Given the description of an element on the screen output the (x, y) to click on. 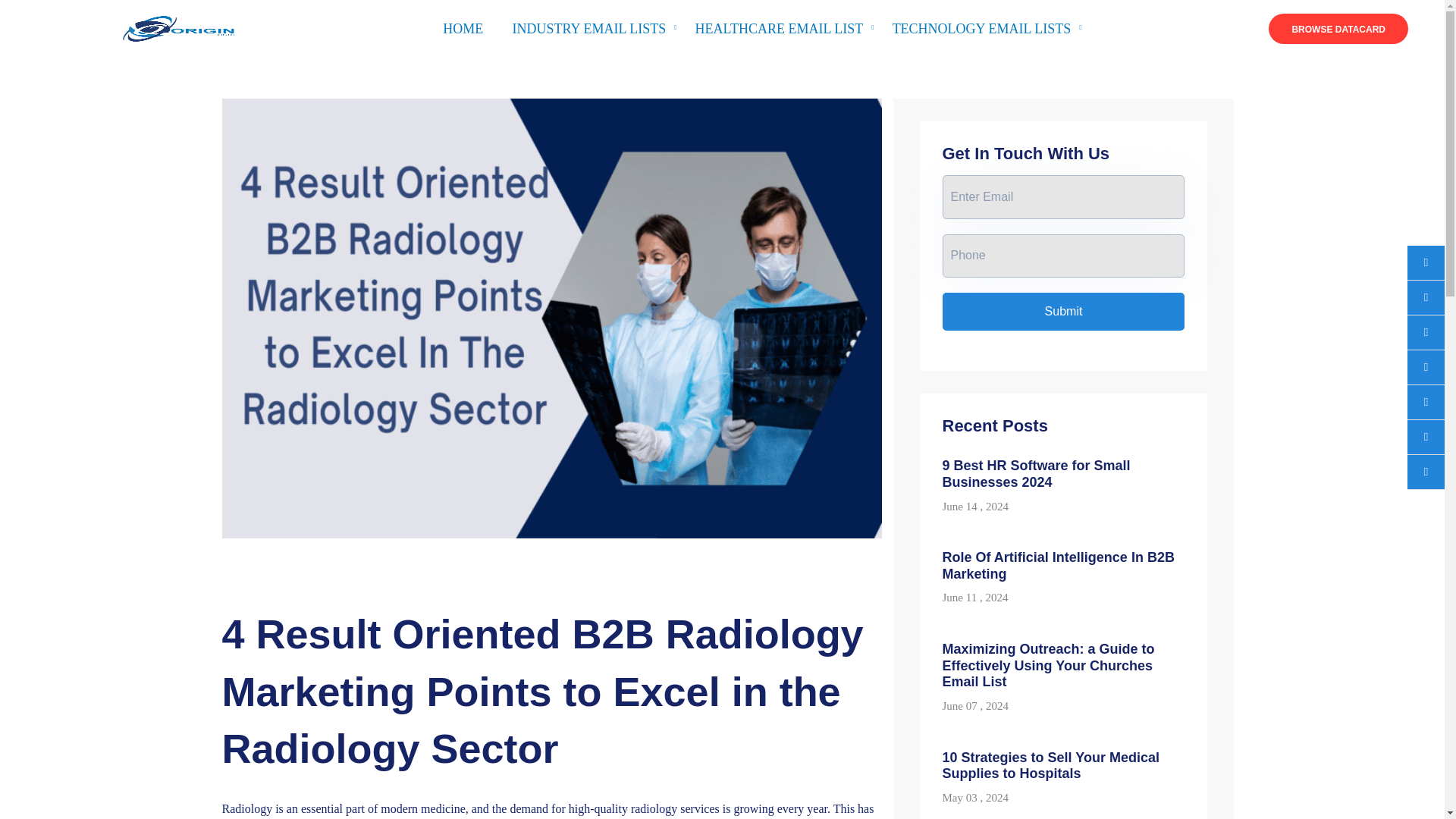
HOME (462, 28)
Originlists (140, 27)
BROWSE DATACARD (1337, 28)
HEALTHCARE EMAIL LIST (778, 28)
TECHNOLOGY EMAIL LISTS (980, 28)
INDUSTRY EMAIL LISTS (588, 28)
